Given the description of an element on the screen output the (x, y) to click on. 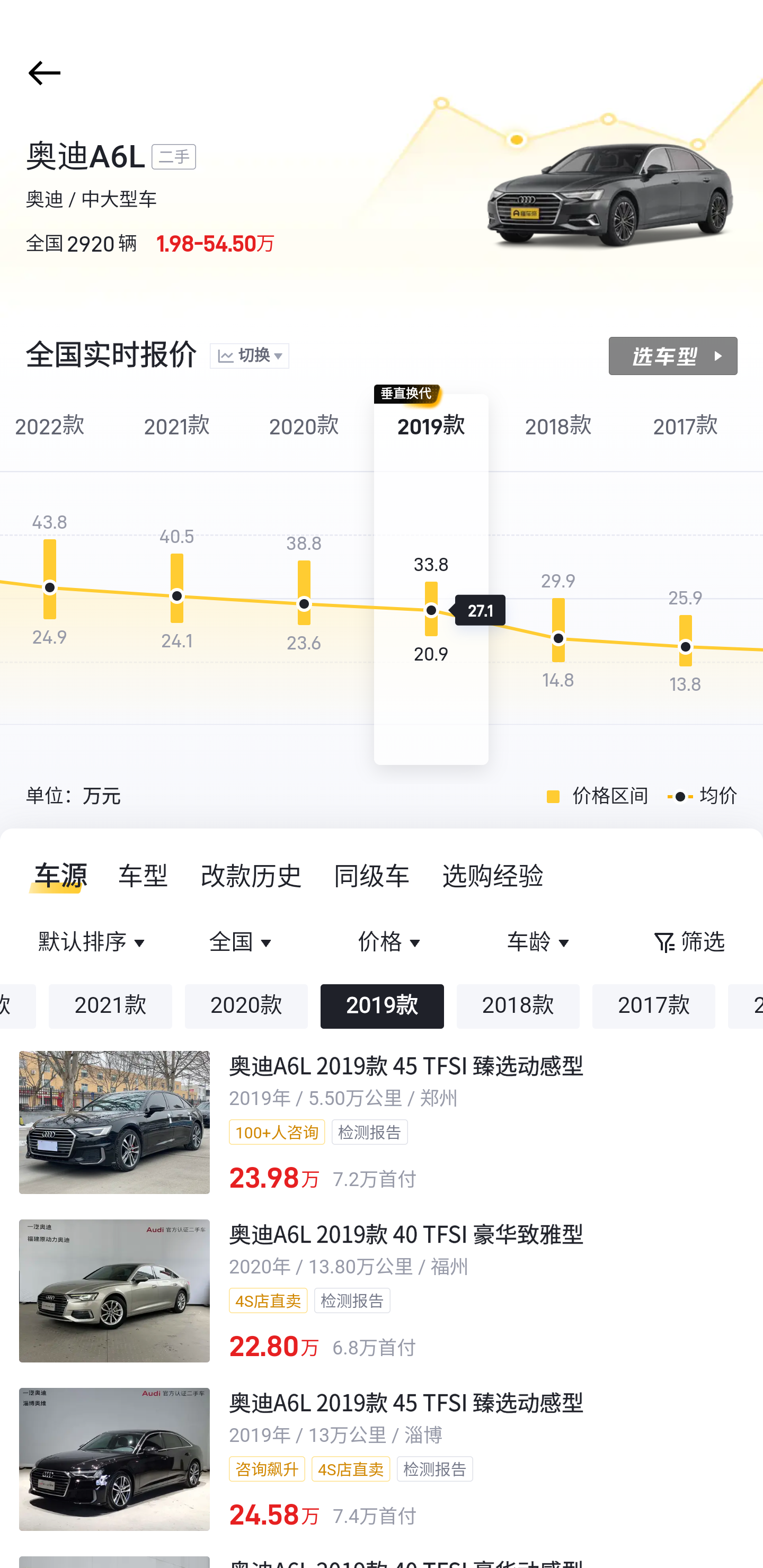
 (41, 72)
切换 (249, 356)
2022款 43.8 24.9 (54, 579)
2021款 40.5 24.1 (177, 579)
2020款 38.8 23.6 (304, 579)
垂直换代 2019 款 33.8 20.9 (431, 579)
2018款 29.9 14.8 (558, 579)
2017款 25.9 13.8 (685, 579)
车源 (55, 875)
车型 (143, 876)
改款历史 (251, 876)
同级车 (372, 876)
选购经验 (492, 876)
默认排序 (93, 943)
全国 (242, 943)
价格 (390, 943)
车龄 (538, 943)
筛选 (688, 943)
2021款 (110, 1006)
2020款 (246, 1006)
2019款 (381, 1006)
2018款 (517, 1006)
2017款 (654, 1006)
